Given the description of an element on the screen output the (x, y) to click on. 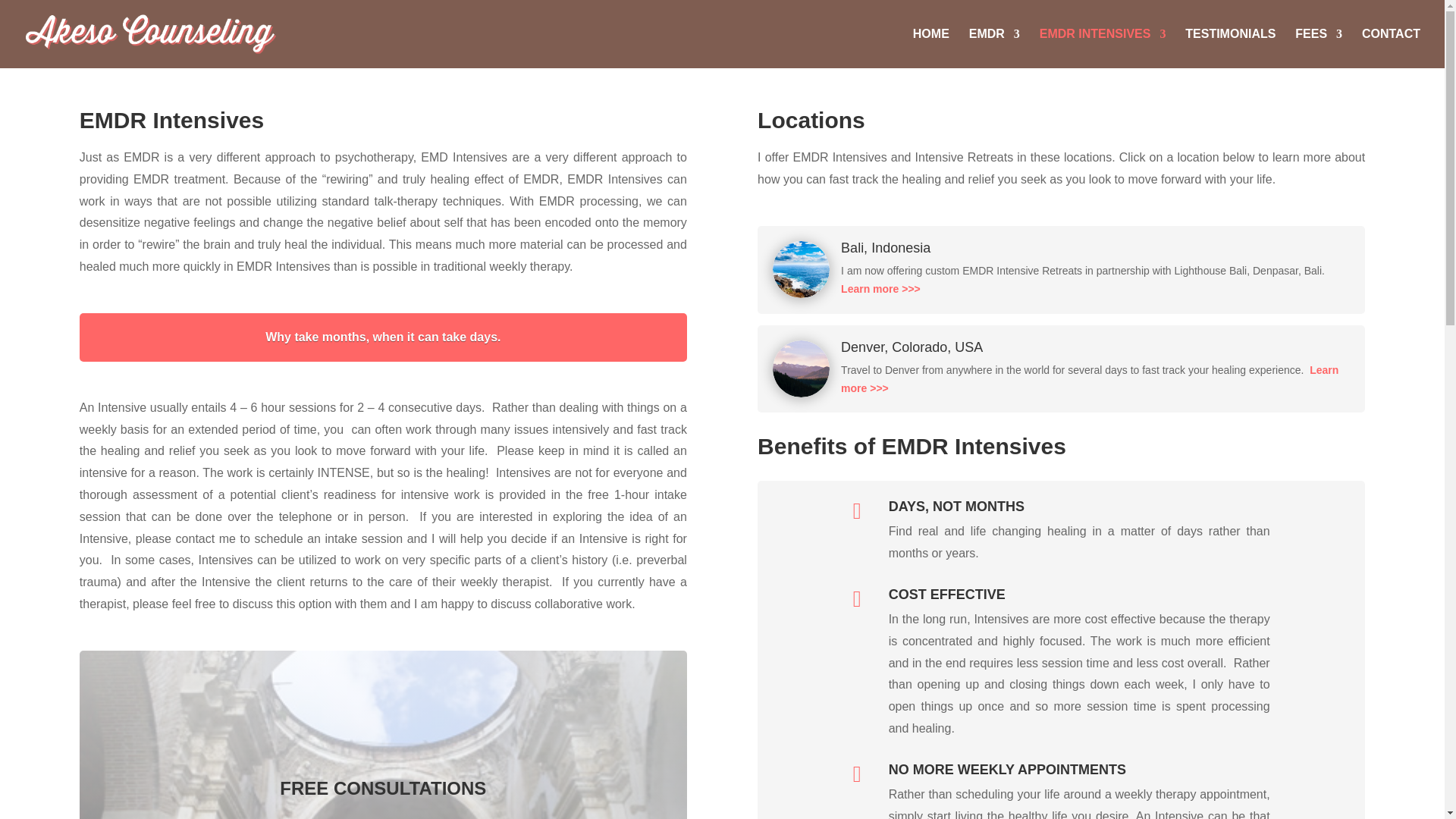
EMDR (994, 47)
CONTACT (1391, 47)
TESTIMONIALS (1230, 47)
FEES (1318, 47)
HOME (930, 47)
EMDR INTENSIVES (1102, 47)
